Given the description of an element on the screen output the (x, y) to click on. 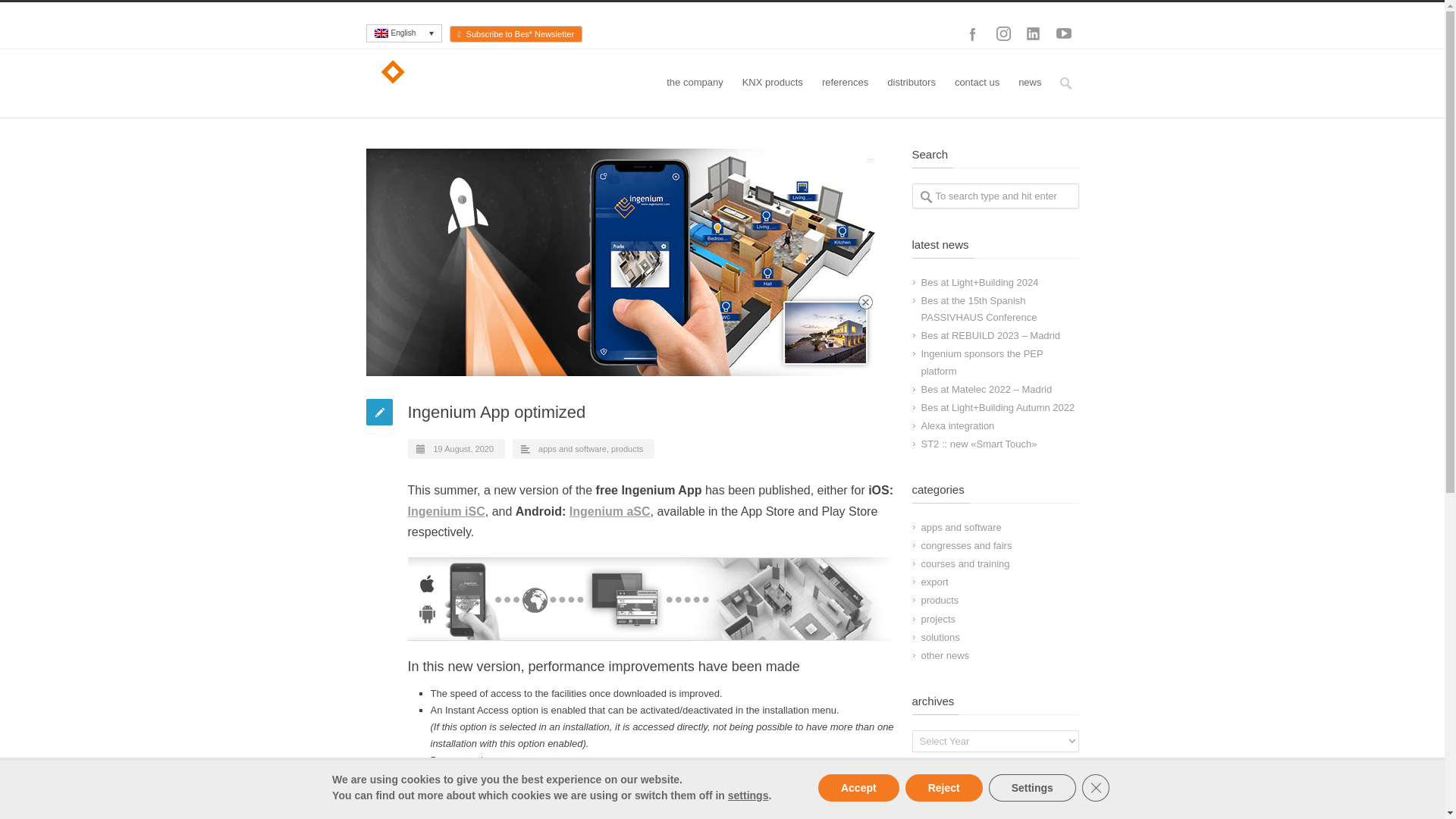
apps and software (572, 448)
Alexa integration (957, 425)
Ingenium App optimized (630, 261)
To search type and hit enter (994, 195)
English (403, 33)
the company (694, 83)
YouTube (1063, 33)
Facebook (971, 33)
KNX products (772, 83)
Ingenium (429, 808)
Ingenium aSC (609, 511)
Ingenium sponsors the PEP platform (981, 361)
LinkedIn (1032, 33)
Ingenium iSC (445, 511)
Bes at the 15th Spanish PASSIVHAUS Conference (978, 308)
